Given the description of an element on the screen output the (x, y) to click on. 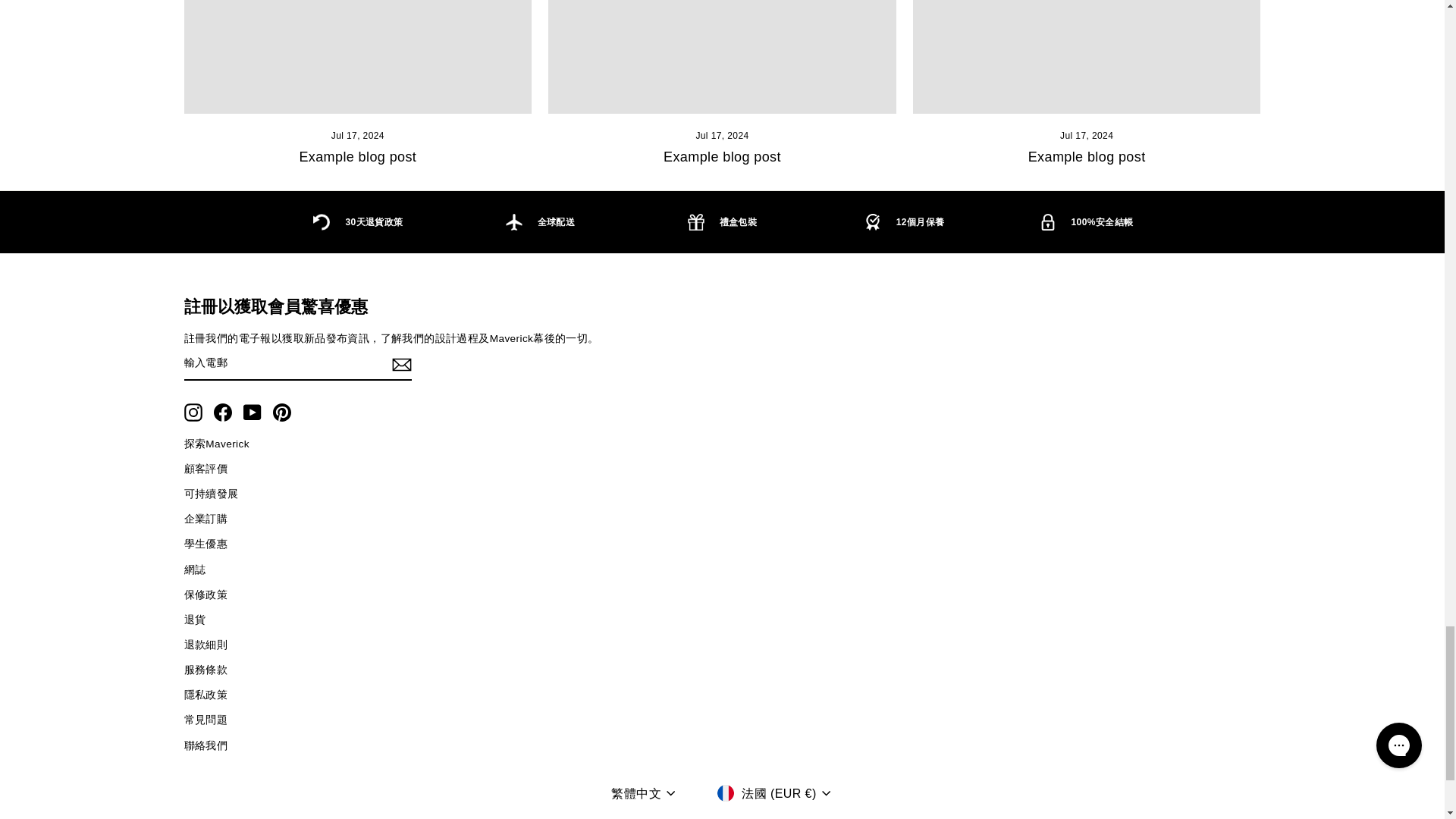
instagram (192, 412)
icon-email (400, 364)
